Given the description of an element on the screen output the (x, y) to click on. 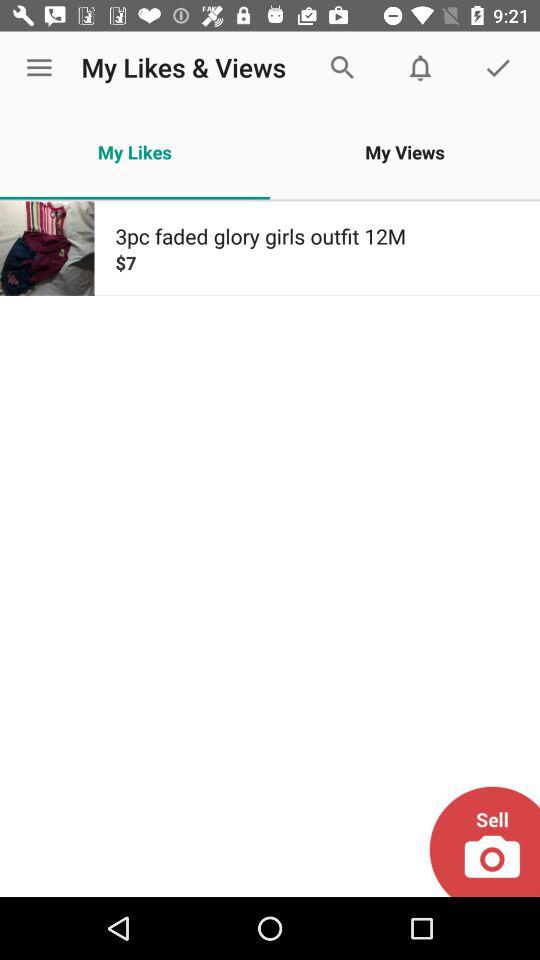
select icon below the $7 (484, 841)
